Given the description of an element on the screen output the (x, y) to click on. 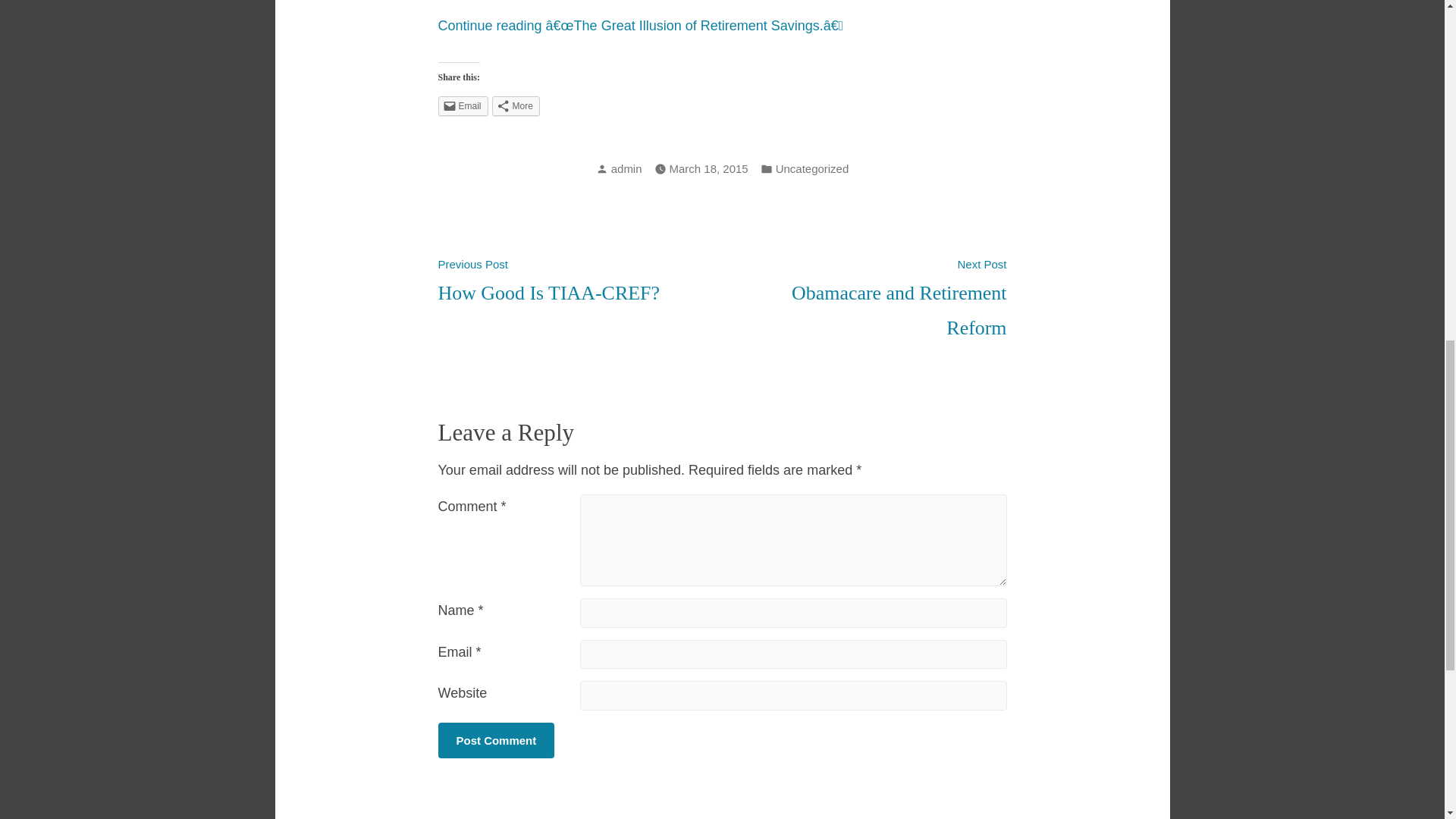
admin (626, 168)
March 18, 2015 (899, 296)
More (708, 168)
Post Comment (516, 106)
Uncategorized (496, 740)
Post Comment (812, 168)
Click to email this to a friend (496, 740)
Email (462, 106)
